Given the description of an element on the screen output the (x, y) to click on. 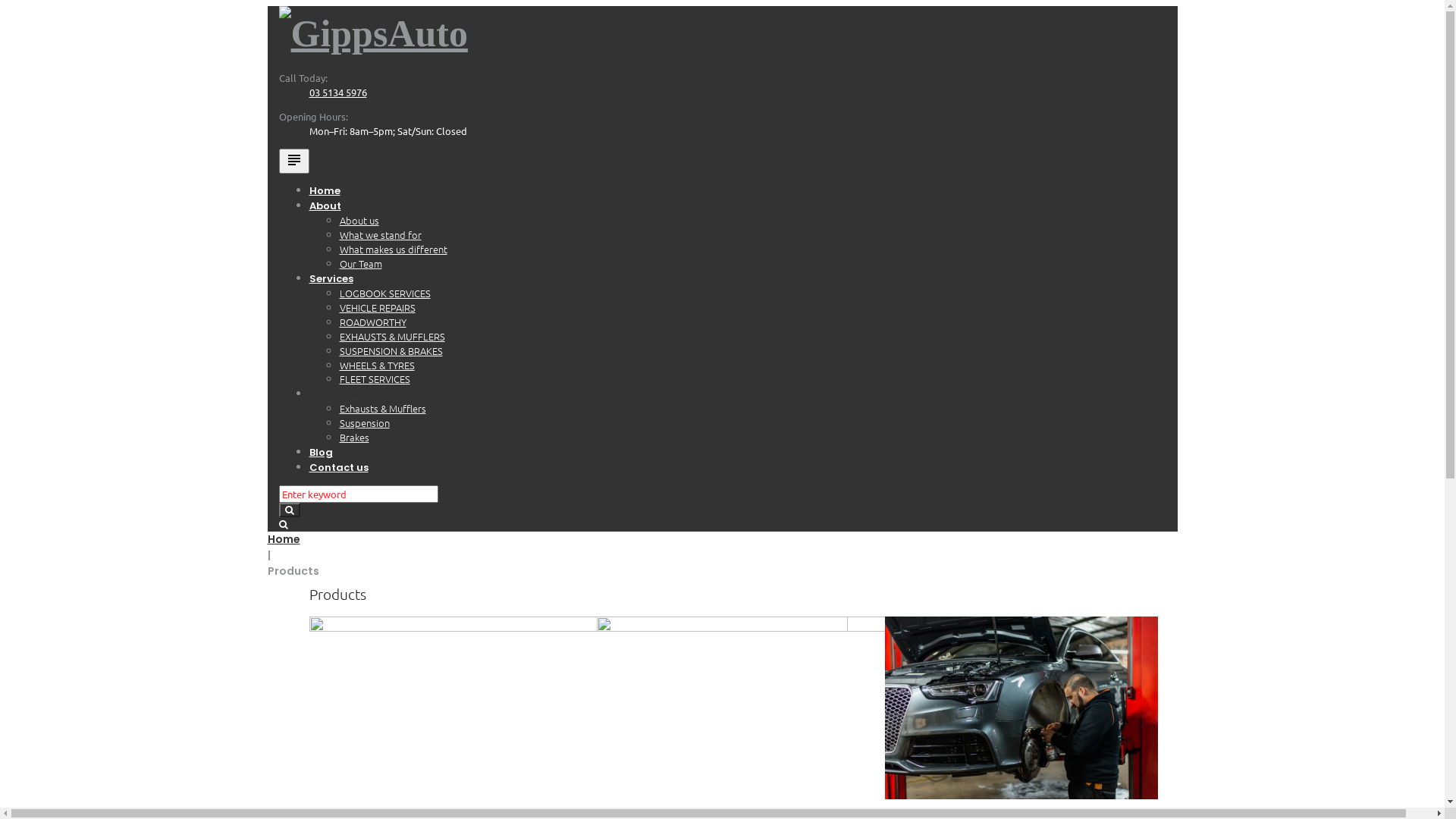
EXHAUSTS & MUFFLERS Element type: text (392, 336)
LOGBOOK SERVICES Element type: text (384, 292)
ROADWORTHY Element type: text (372, 321)
Home Element type: text (324, 190)
03 5134 5976 Element type: text (338, 91)
About us Element type: text (359, 220)
What we stand for Element type: text (380, 234)
subject Element type: text (294, 160)
What makes us different Element type: text (393, 248)
Suspension Element type: text (364, 422)
Exhausts & Mufflers Element type: text (382, 408)
About Element type: text (325, 205)
Blog Element type: text (320, 452)
VEHICLE REPAIRS Element type: text (377, 307)
FLEET SERVICES Element type: text (374, 378)
WHEELS & TYRES Element type: text (376, 364)
Search for: Element type: hover (358, 493)
Our Team Element type: text (360, 263)
Home Element type: text (282, 538)
Contact us Element type: text (338, 467)
Services Element type: text (331, 278)
Brakes Element type: text (354, 436)
Products Element type: text (333, 393)
SUSPENSION & BRAKES Element type: text (390, 350)
